Given the description of an element on the screen output the (x, y) to click on. 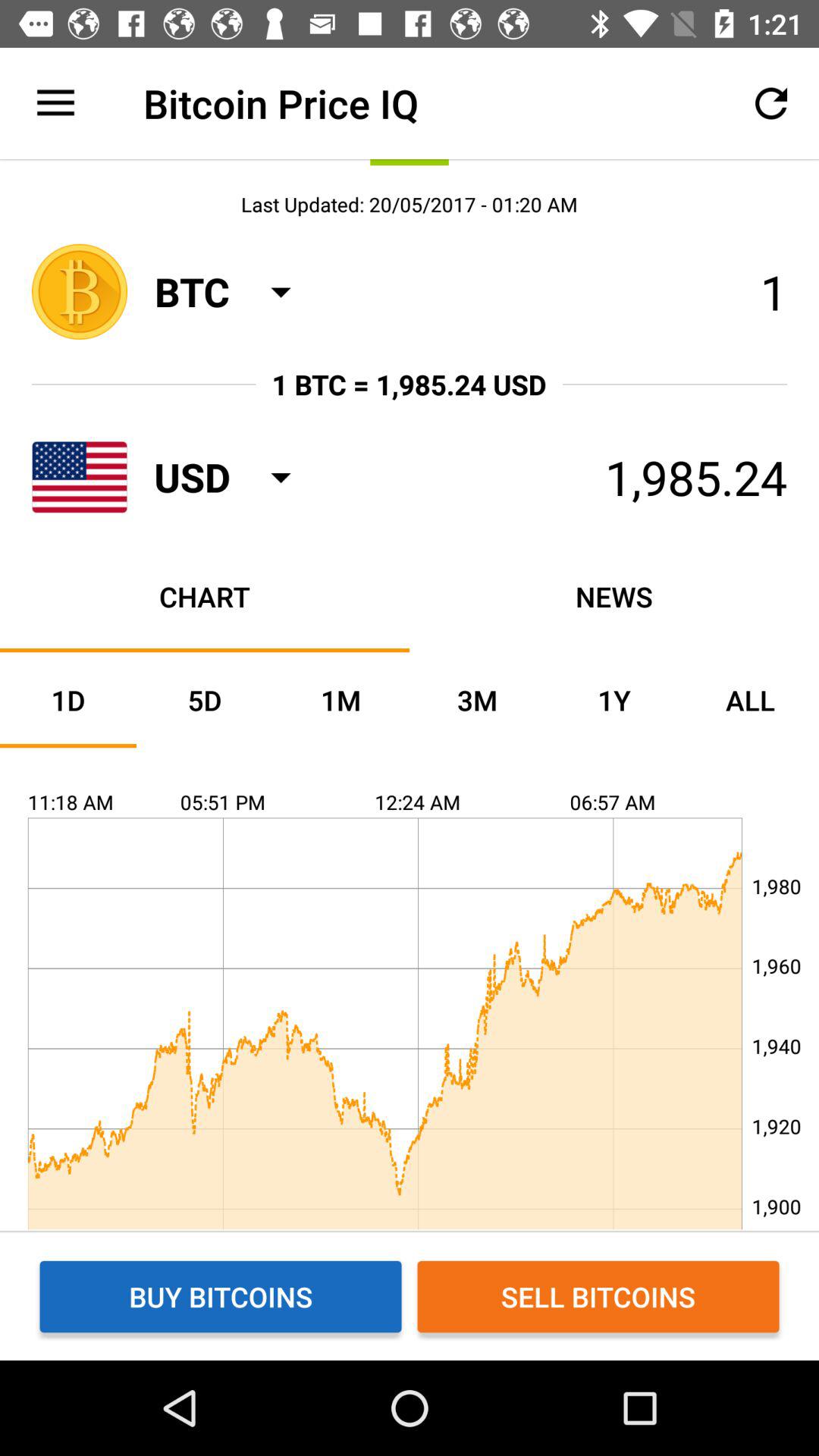
choose the item to the left of the bitcoin price iq (55, 103)
